Given the description of an element on the screen output the (x, y) to click on. 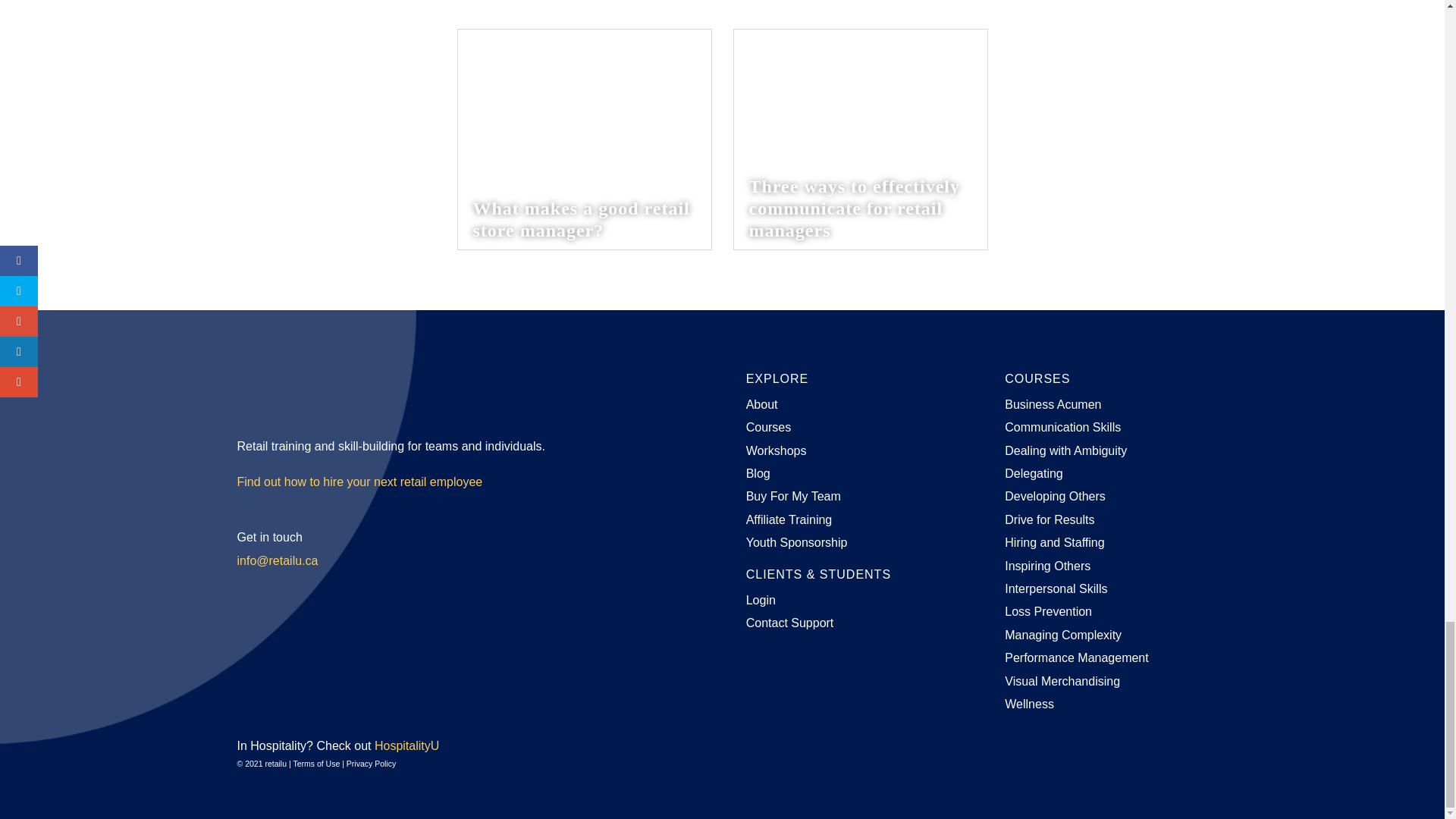
retailu reverse yellow (304, 389)
